Given the description of an element on the screen output the (x, y) to click on. 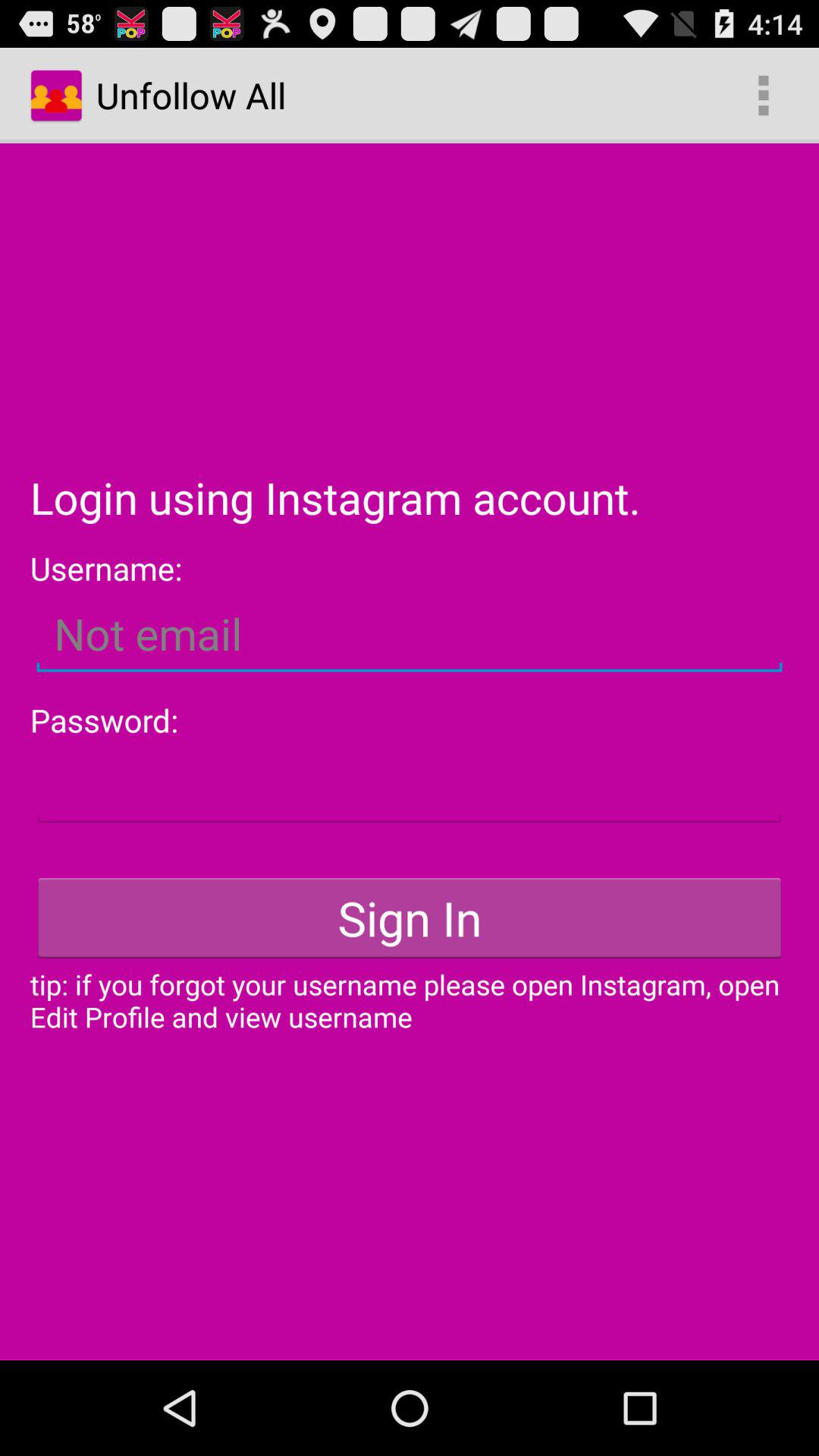
tap item to the right of unfollow all app (763, 95)
